Given the description of an element on the screen output the (x, y) to click on. 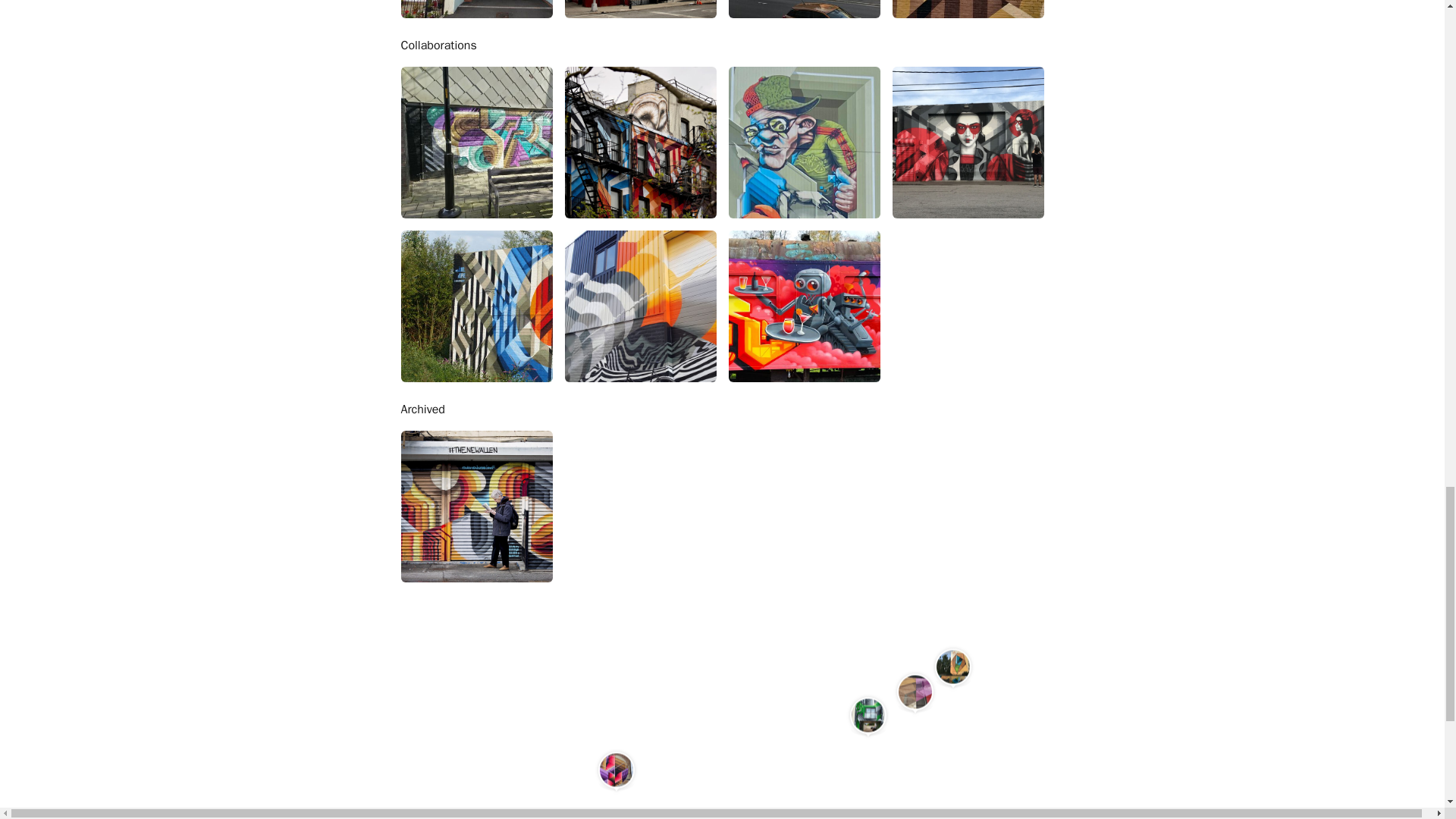
Untitled (475, 9)
